Given the description of an element on the screen output the (x, y) to click on. 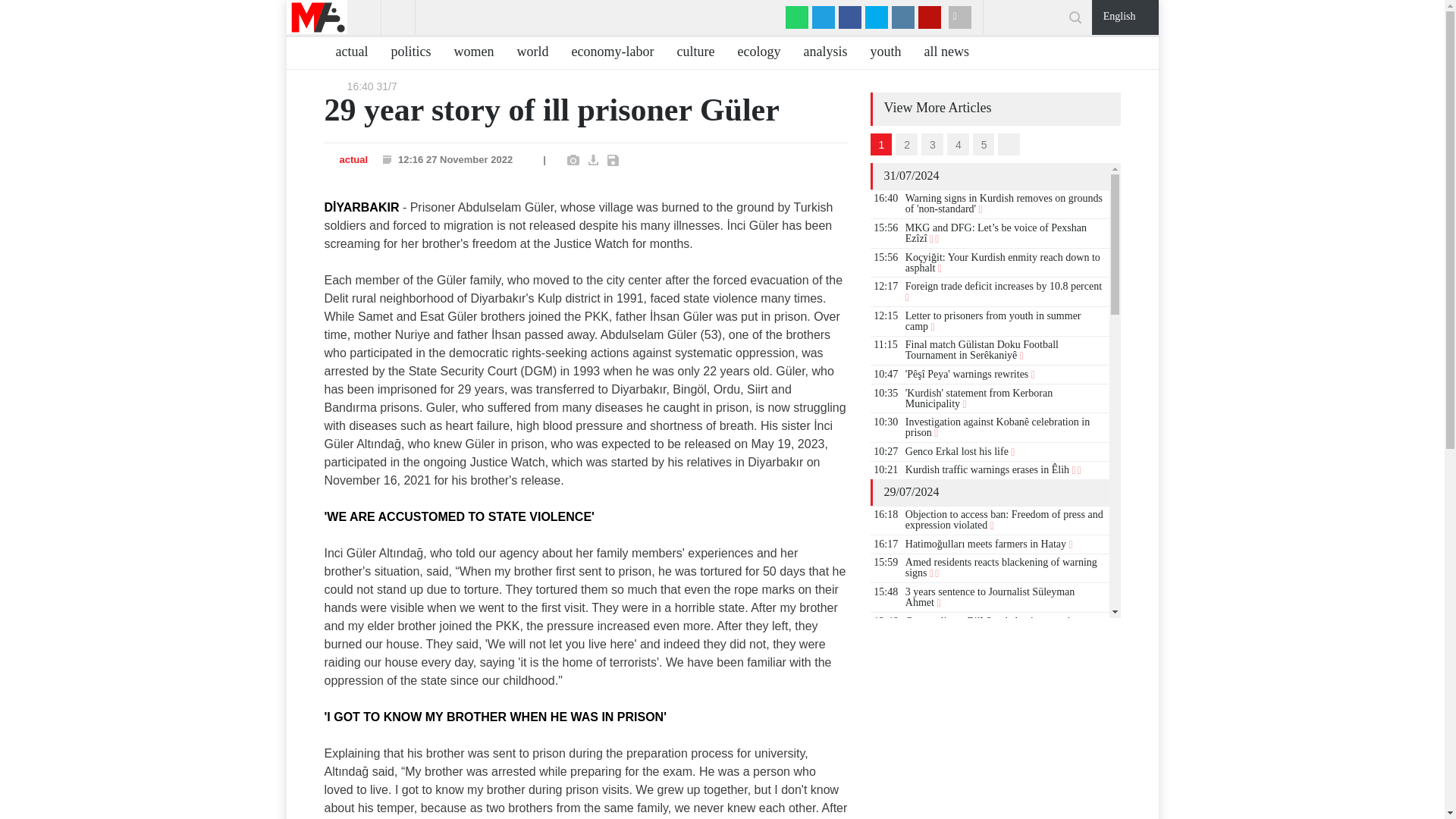
actual (346, 52)
English (1125, 14)
youtube (929, 16)
analysis (819, 52)
culture (689, 52)
whatsapp (797, 16)
telegram (823, 16)
Mezopotamya News (316, 17)
politics (404, 52)
ecology (752, 52)
